Given the description of an element on the screen output the (x, y) to click on. 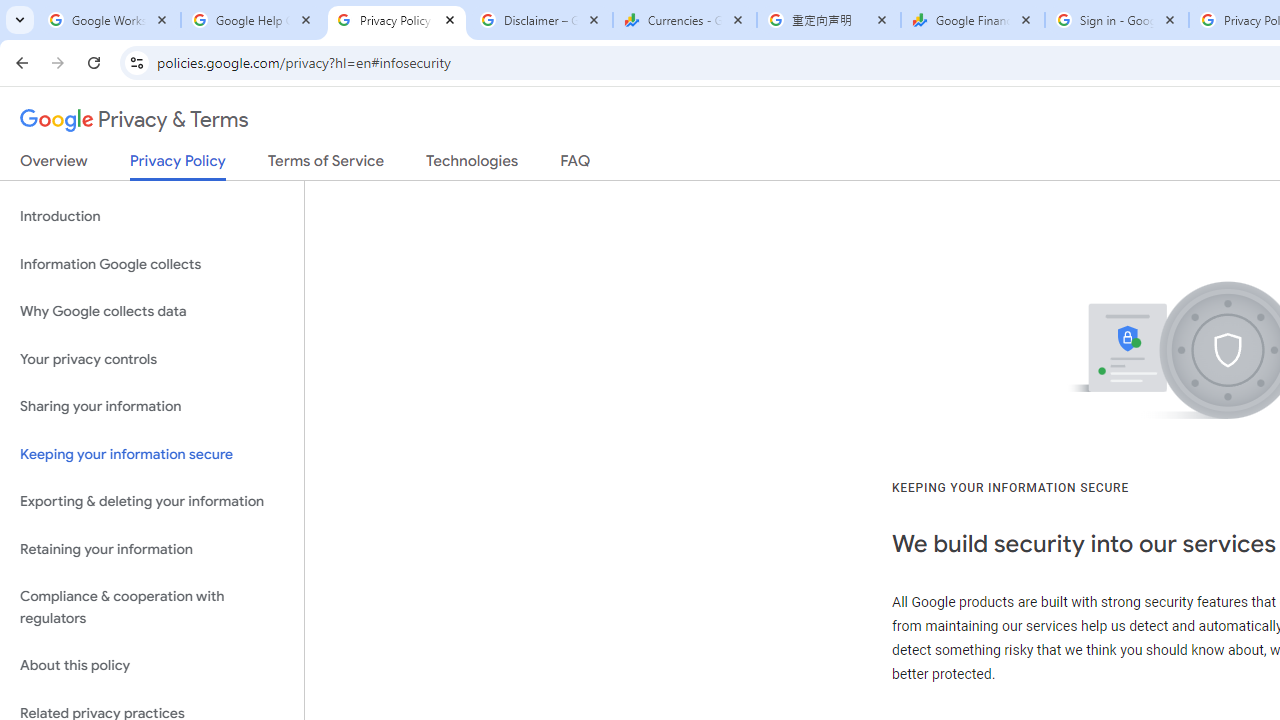
Google Workspace Admin Community (108, 20)
Privacy & Terms (134, 120)
Sharing your information (152, 407)
About this policy (152, 666)
Compliance & cooperation with regulators (152, 607)
FAQ (575, 165)
Retaining your information (152, 548)
Sign in - Google Accounts (1116, 20)
